Given the description of an element on the screen output the (x, y) to click on. 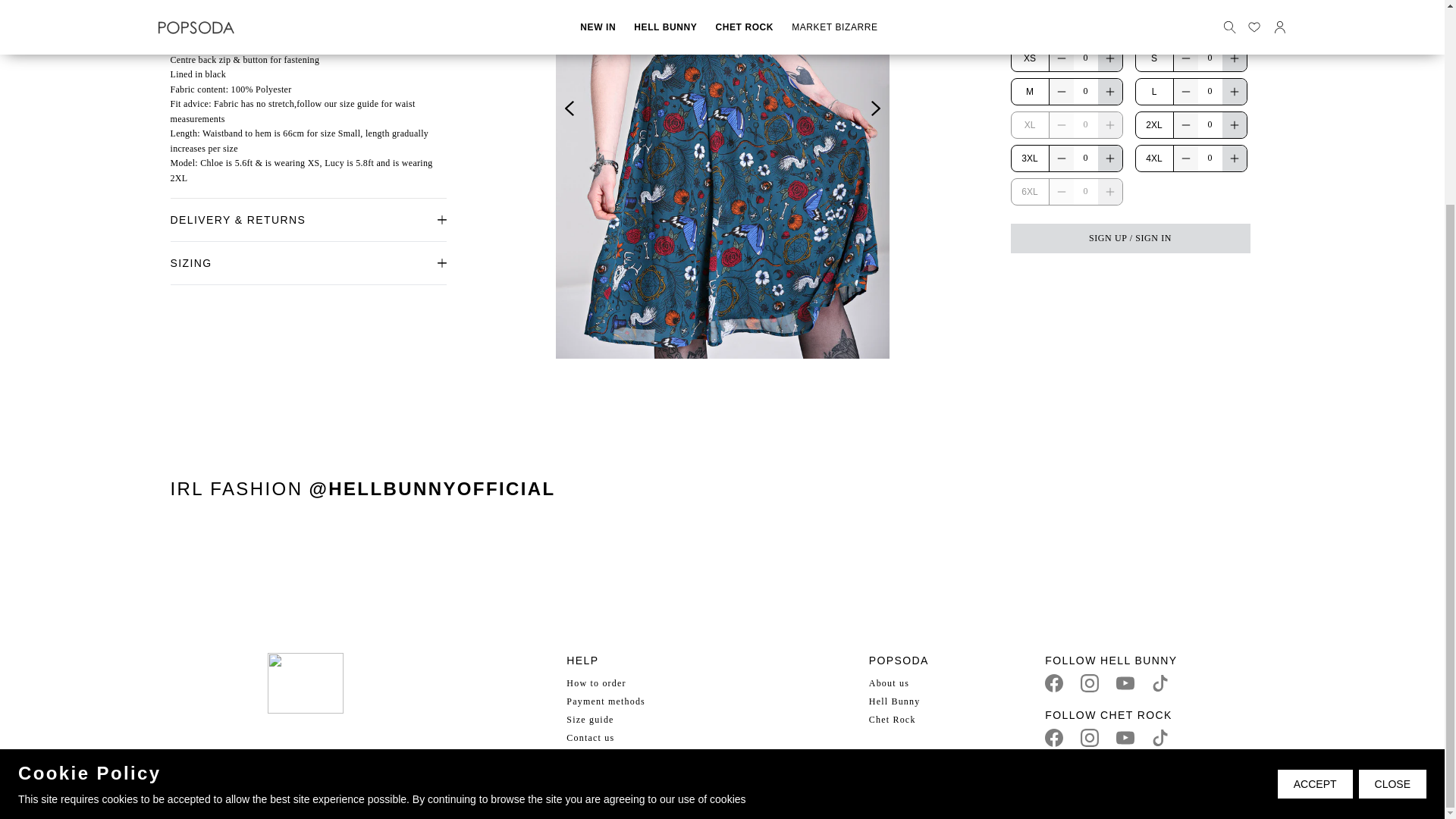
0 (1085, 124)
0 (1210, 157)
0 (1085, 157)
0 (1085, 90)
0 (1210, 124)
0 (1210, 90)
0 (1085, 57)
0 (1210, 57)
0 (1085, 190)
